Given the description of an element on the screen output the (x, y) to click on. 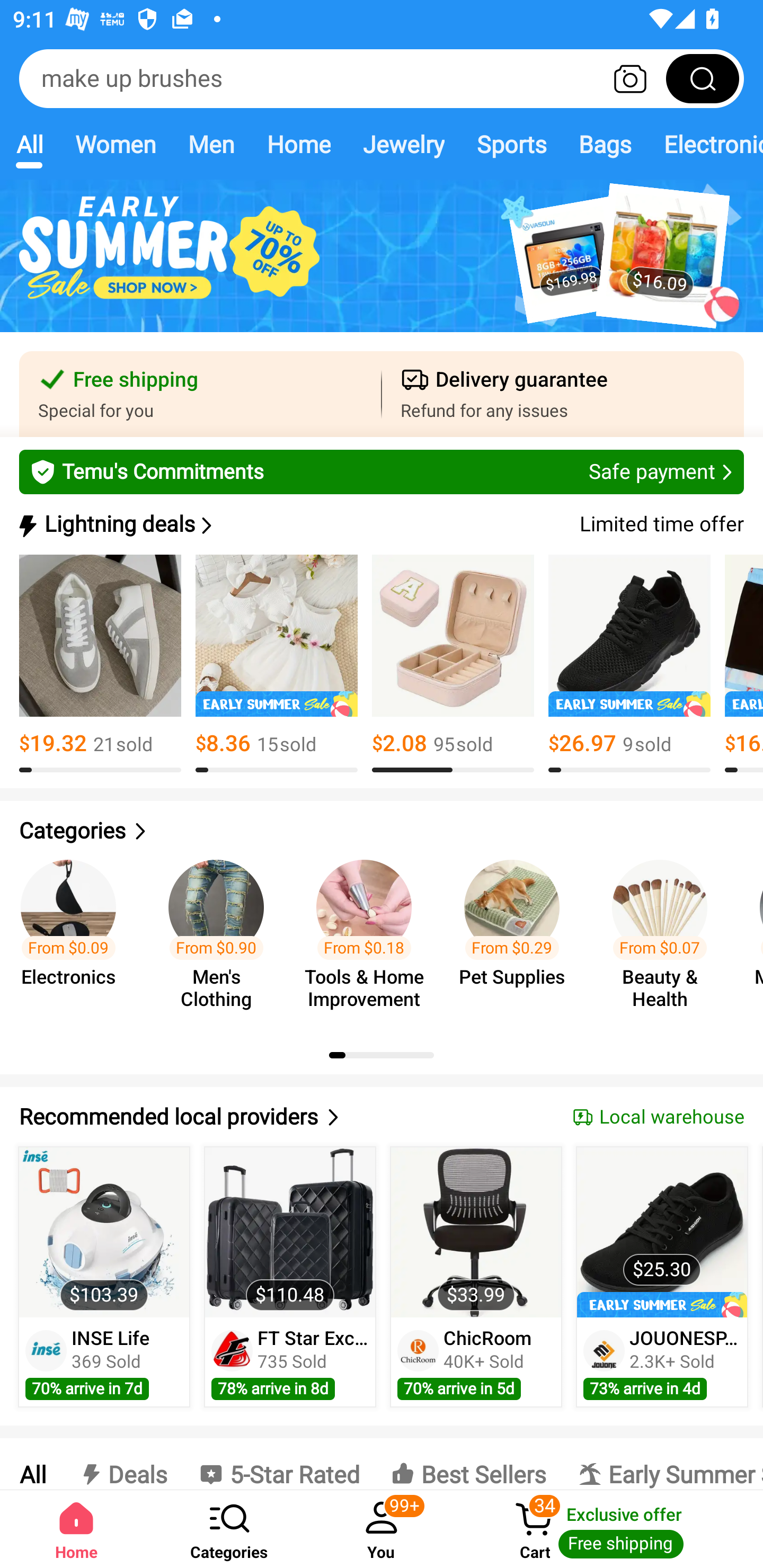
make up brushes (381, 78)
All (29, 144)
Women (115, 144)
Men (211, 144)
Home (298, 144)
Jewelry (403, 144)
Sports (511, 144)
Bags (605, 144)
Electronics (705, 144)
$169.98 $16.09 (381, 265)
Free shipping Special for you (200, 394)
Delivery guarantee Refund for any issues (562, 394)
Temu's Commitments (381, 471)
Lightning deals Lightning deals Limited time offer (379, 524)
$19.32 21￼sold 8.0 (100, 664)
$8.36 15￼sold 8.0 (276, 664)
$2.08 95￼sold 51.0 (453, 664)
$26.97 9￼sold 8.0 (629, 664)
Categories (381, 830)
From $0.09 Electronics (74, 936)
From $0.90 Men's Clothing (222, 936)
From $0.18 Tools & Home Improvement (369, 936)
From $0.29 Pet Supplies (517, 936)
From $0.07 Beauty & Health (665, 936)
$103.39 INSE Life 369 Sold 70% arrive in 7d (103, 1276)
$33.99 ChicRoom 40K+ Sold 70% arrive in 5d (475, 1276)
$25.30 JOUONESPORTS 2.3K+ Sold 73% arrive in 4d (661, 1276)
$103.39 (104, 1232)
$110.48 (290, 1232)
$33.99 (475, 1232)
$25.30 (661, 1232)
All (32, 1463)
Deals Deals Deals (122, 1463)
5-Star Rated 5-Star Rated 5-Star Rated (279, 1463)
Best Sellers Best Sellers Best Sellers (468, 1463)
Home (76, 1528)
Categories (228, 1528)
You ‎99+‎ You (381, 1528)
Cart 34 Cart Exclusive offer (610, 1528)
